Given the description of an element on the screen output the (x, y) to click on. 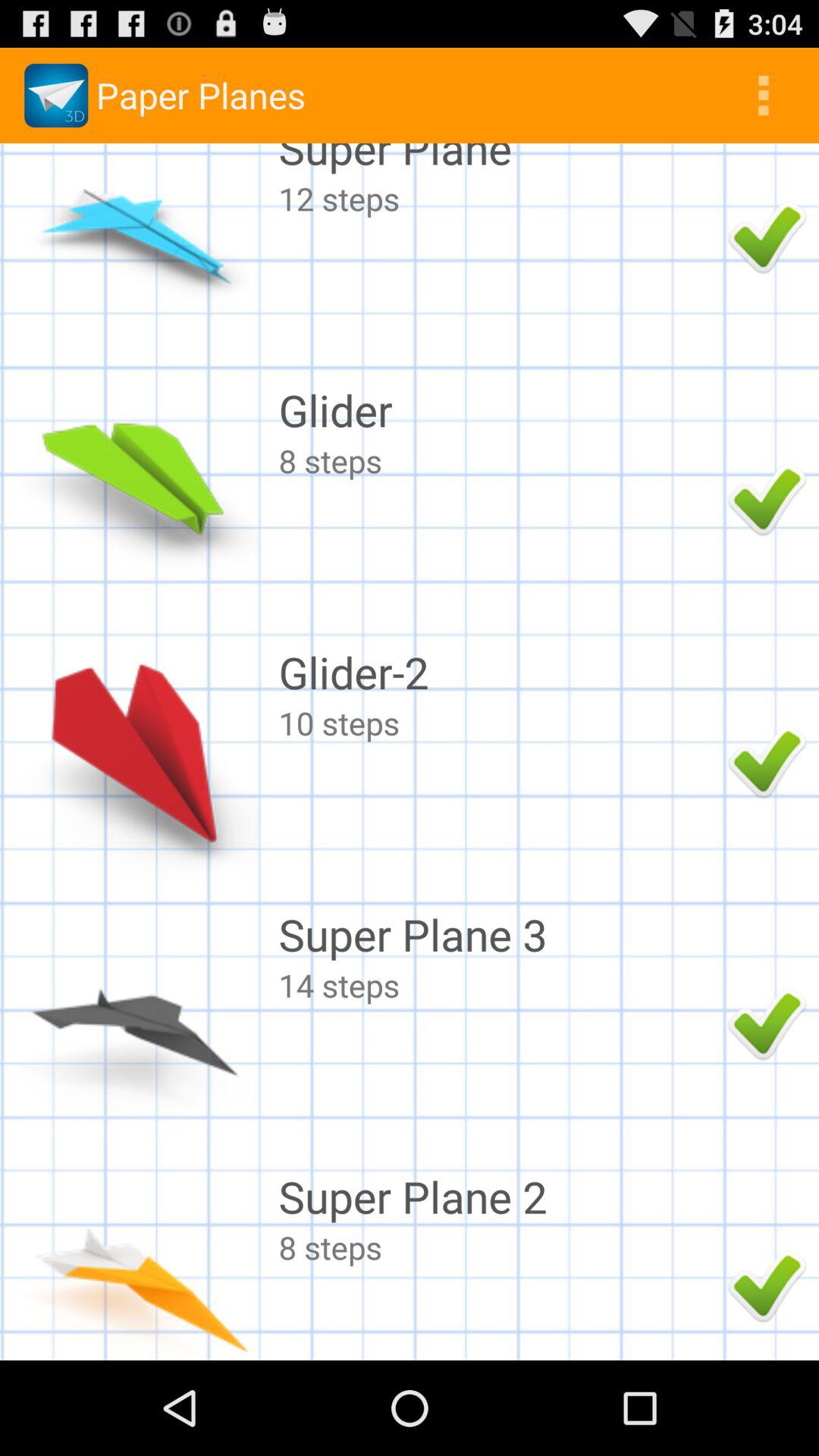
open the icon below super plane  item (498, 198)
